Given the description of an element on the screen output the (x, y) to click on. 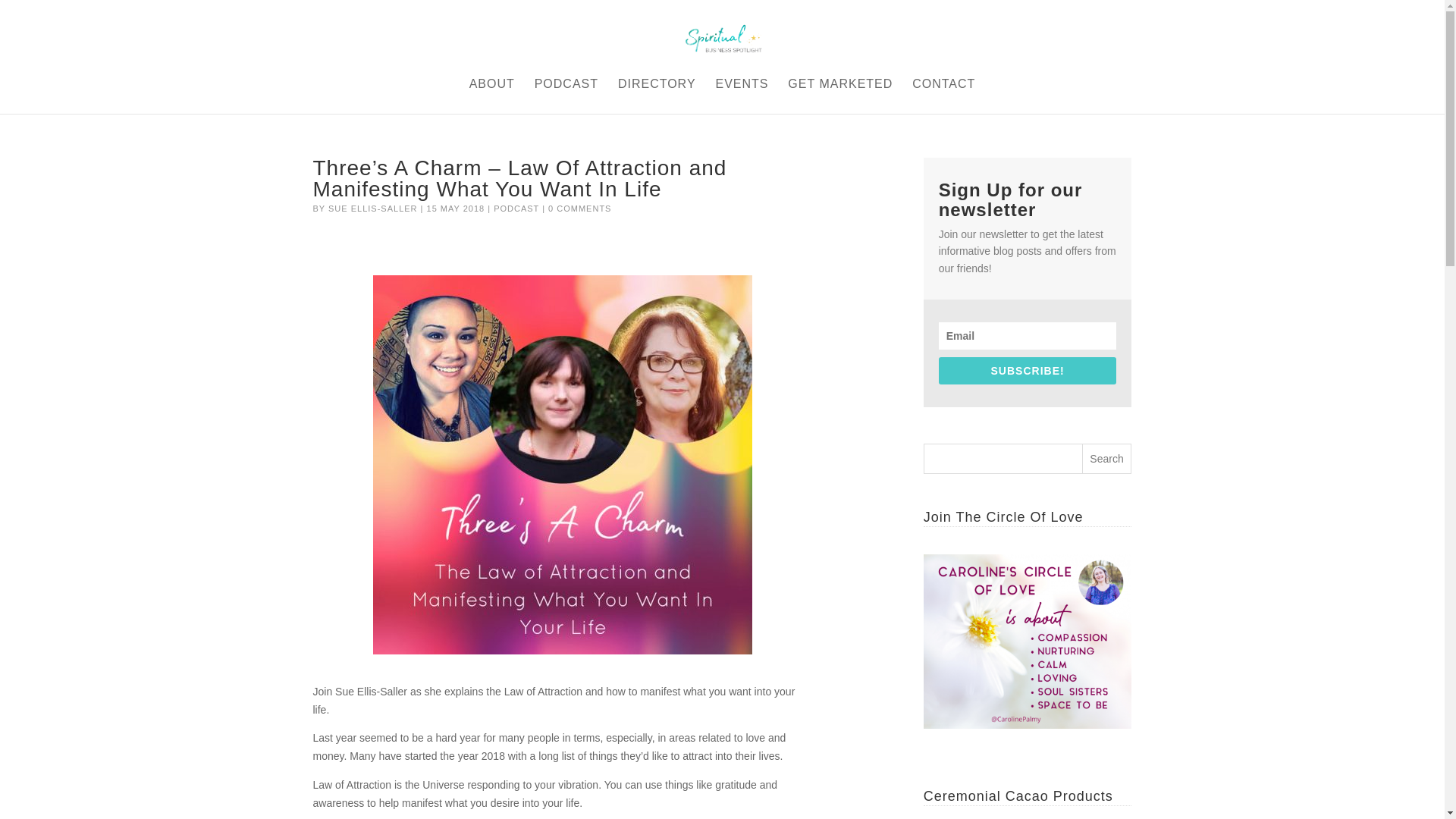
PODCAST (515, 207)
GET MARKETED (839, 95)
SUE ELLIS-SALLER (373, 207)
DIRECTORY (656, 95)
PODCAST (566, 95)
Search (1106, 458)
Search (1106, 458)
EVENTS (741, 95)
CONTACT (943, 95)
SUBSCRIBE! (1027, 370)
